Given the description of an element on the screen output the (x, y) to click on. 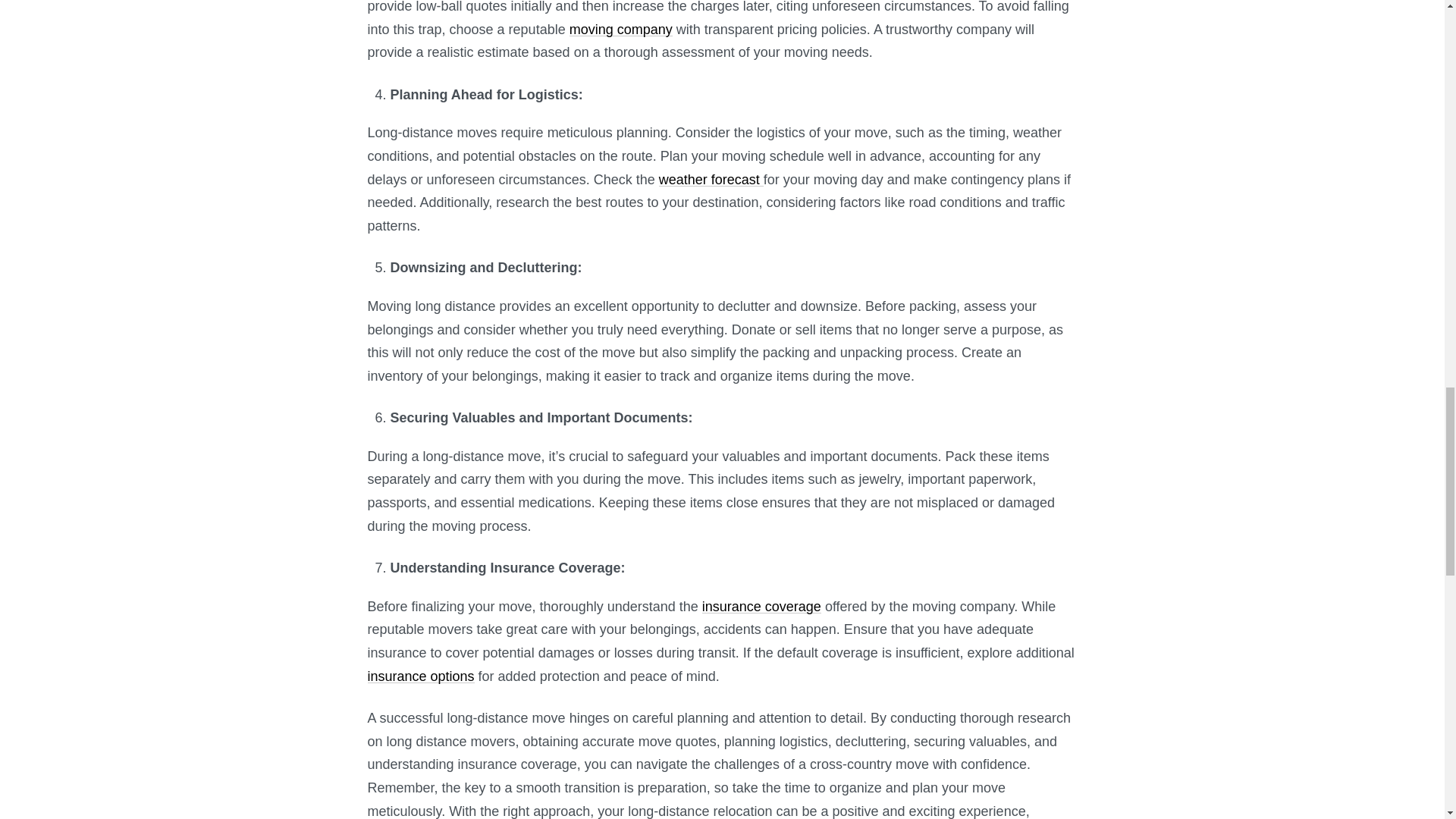
insurance (733, 606)
weather forecast (710, 179)
moving company (620, 29)
coverage (793, 606)
insurance options (420, 676)
